Given the description of an element on the screen output the (x, y) to click on. 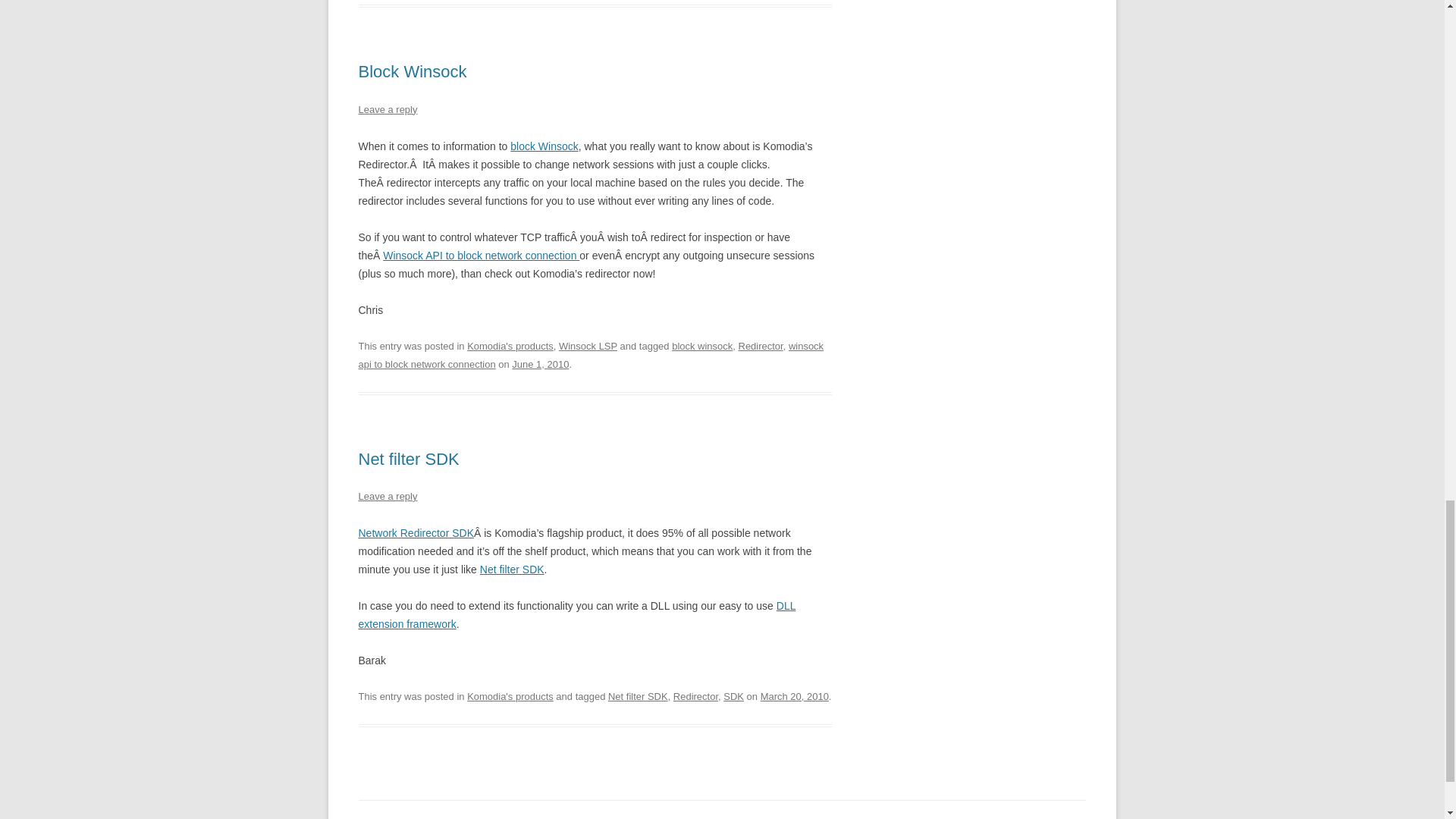
4:49 pm (794, 696)
10:43 pm (540, 364)
